Given the description of an element on the screen output the (x, y) to click on. 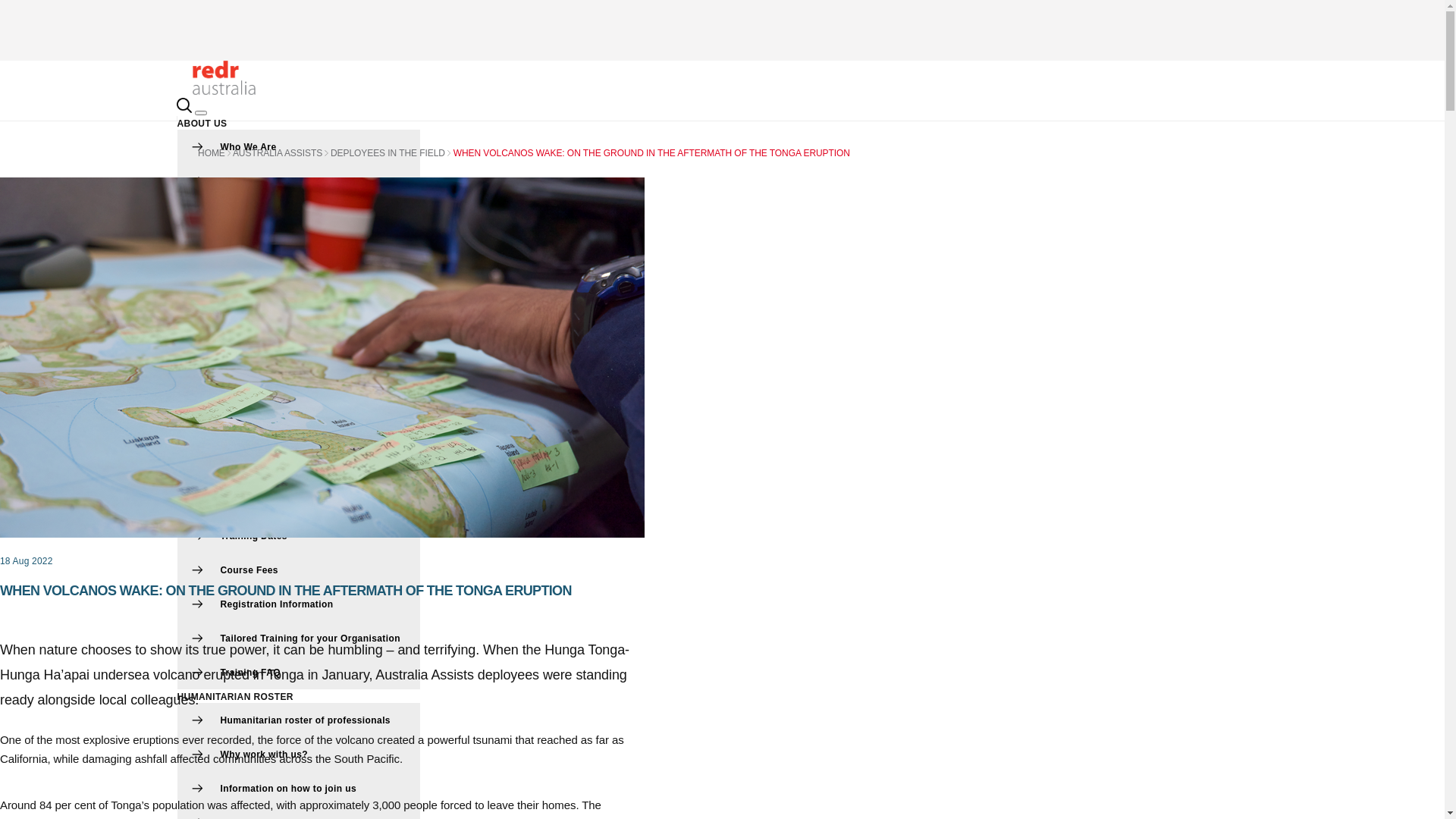
RedR Federation Element type: text (298, 317)
DEPLOYEES IN THE FIELD Element type: text (387, 152)
Tailored Training for your Organisation Element type: text (298, 638)
HOME Element type: text (211, 152)
Support Us Element type: text (298, 419)
Humanitarian roster of professionals Element type: text (298, 719)
Annual Reports Element type: text (298, 351)
Why work with us? Element type: text (298, 754)
About Our Training Element type: text (298, 467)
Information on how to join us Element type: text (298, 788)
AUSTRALIA ASSISTS Element type: text (277, 152)
Board & Governance Element type: text (298, 214)
Where We Work Element type: text (298, 180)
Careers Element type: text (298, 249)
Who We Are Element type: text (298, 146)
Course Fees Element type: text (298, 569)
Our Courses Element type: text (298, 501)
TRAINING COURSES Element type: text (225, 444)
Training FAQ Element type: text (298, 672)
Our Policies Element type: text (298, 385)
Training Dates Element type: text (298, 535)
Our Funding Element type: text (298, 283)
HUMANITARIAN ROSTER Element type: text (235, 696)
Registration Information Element type: text (298, 603)
ABOUT US Element type: text (202, 123)
